Given the description of an element on the screen output the (x, y) to click on. 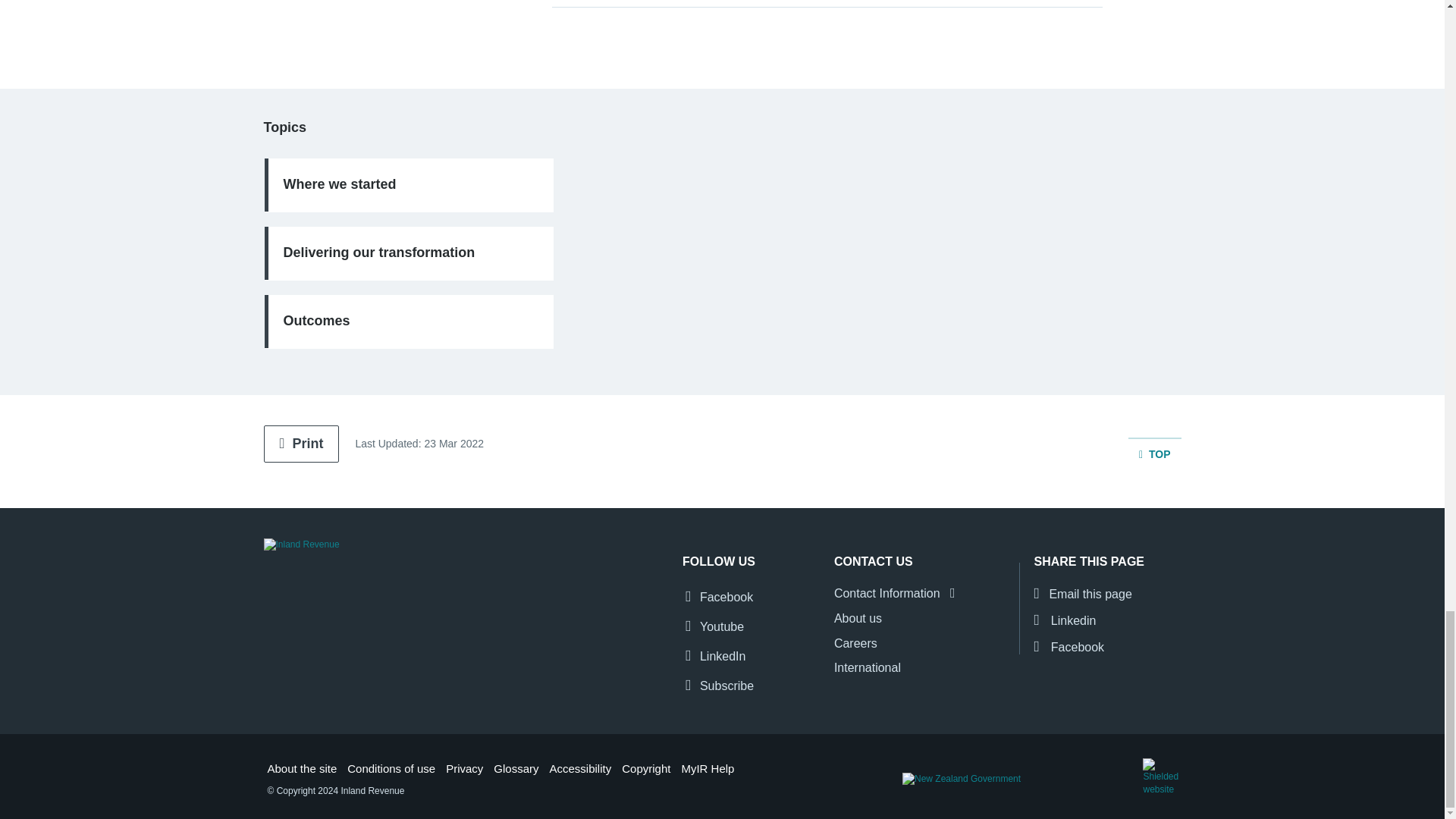
Delivering our transformation (408, 253)
Outcomes (408, 321)
Where we started (408, 184)
